Given the description of an element on the screen output the (x, y) to click on. 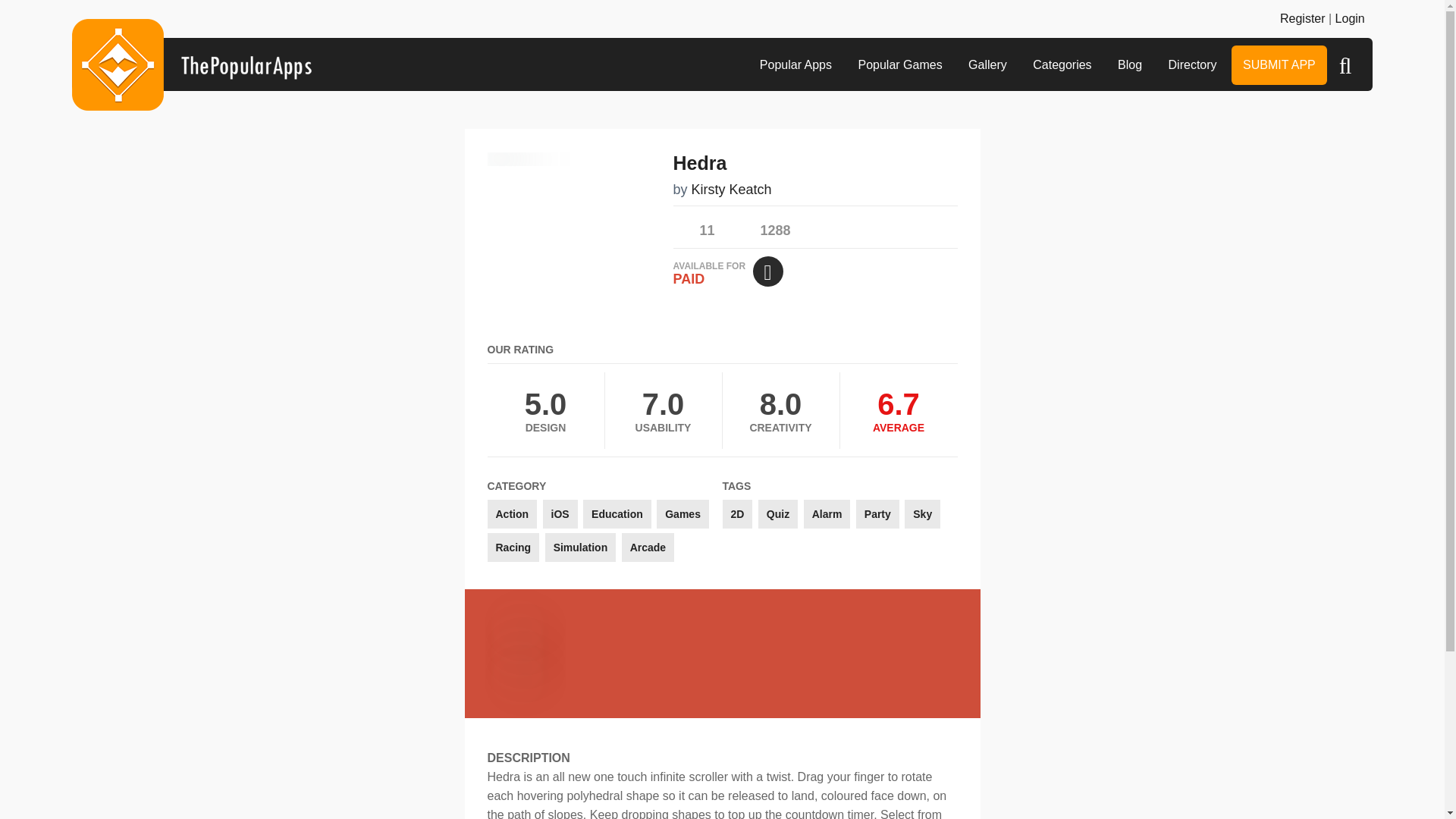
Party (877, 513)
Racing (512, 547)
Popular Apps (795, 65)
11 (693, 226)
Quiz (777, 513)
Blog (1129, 65)
Games (682, 513)
Alarm (826, 513)
2D (737, 513)
Sky (922, 513)
